Given the description of an element on the screen output the (x, y) to click on. 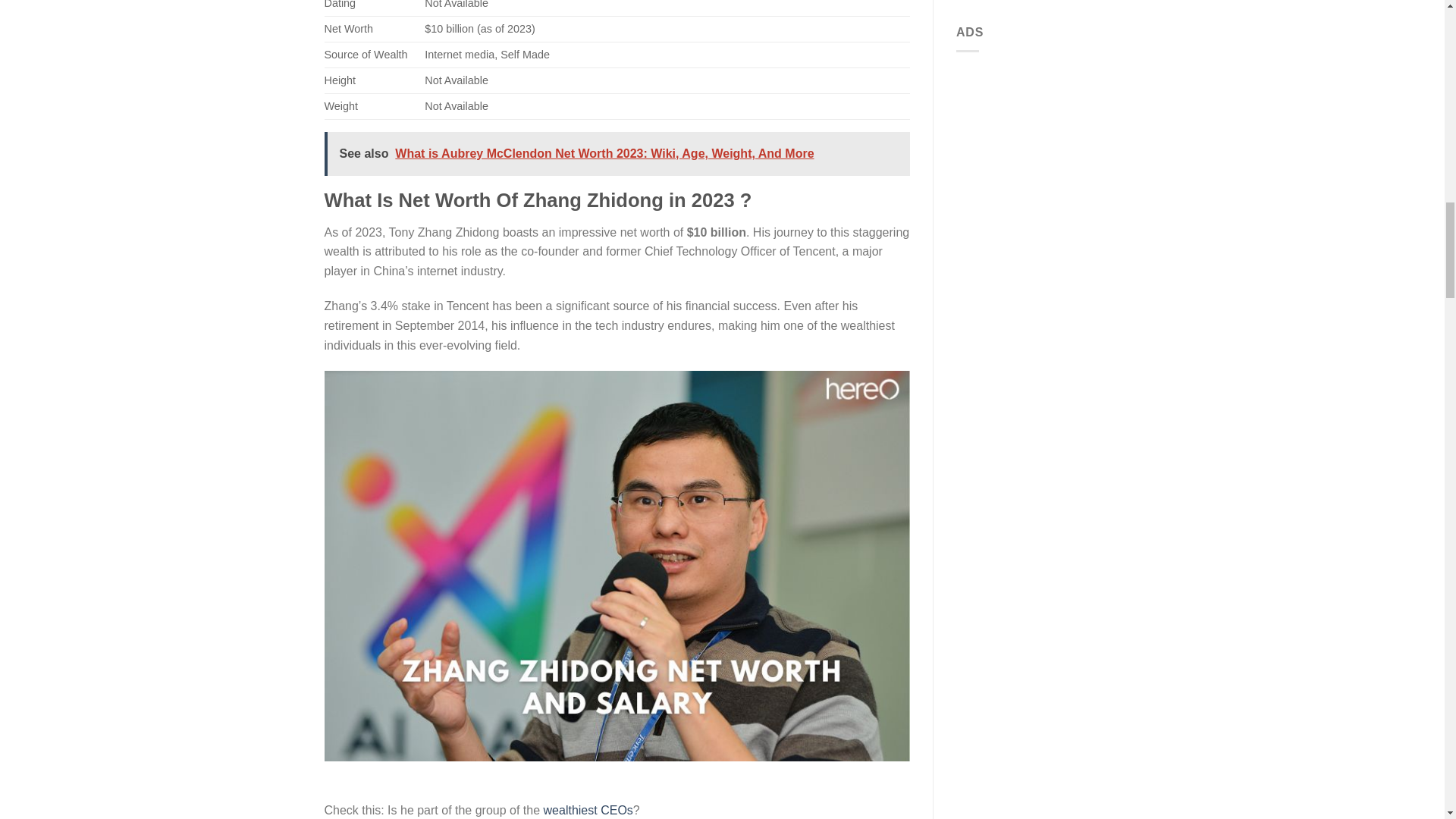
wealthiest CEOs (588, 809)
